Given the description of an element on the screen output the (x, y) to click on. 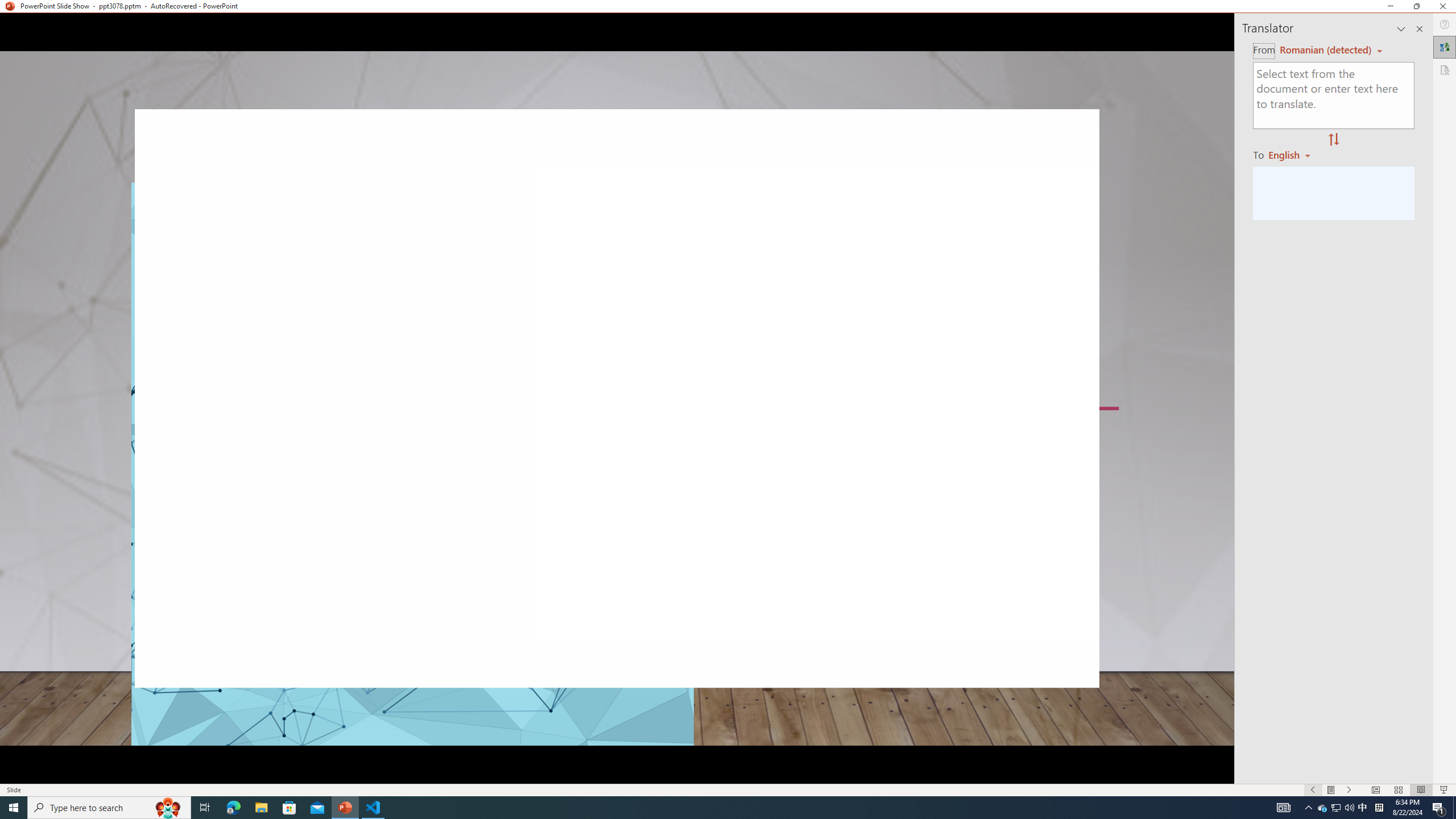
Slide Show Previous On (1313, 790)
Slide Show Next On (1349, 790)
